Given the description of an element on the screen output the (x, y) to click on. 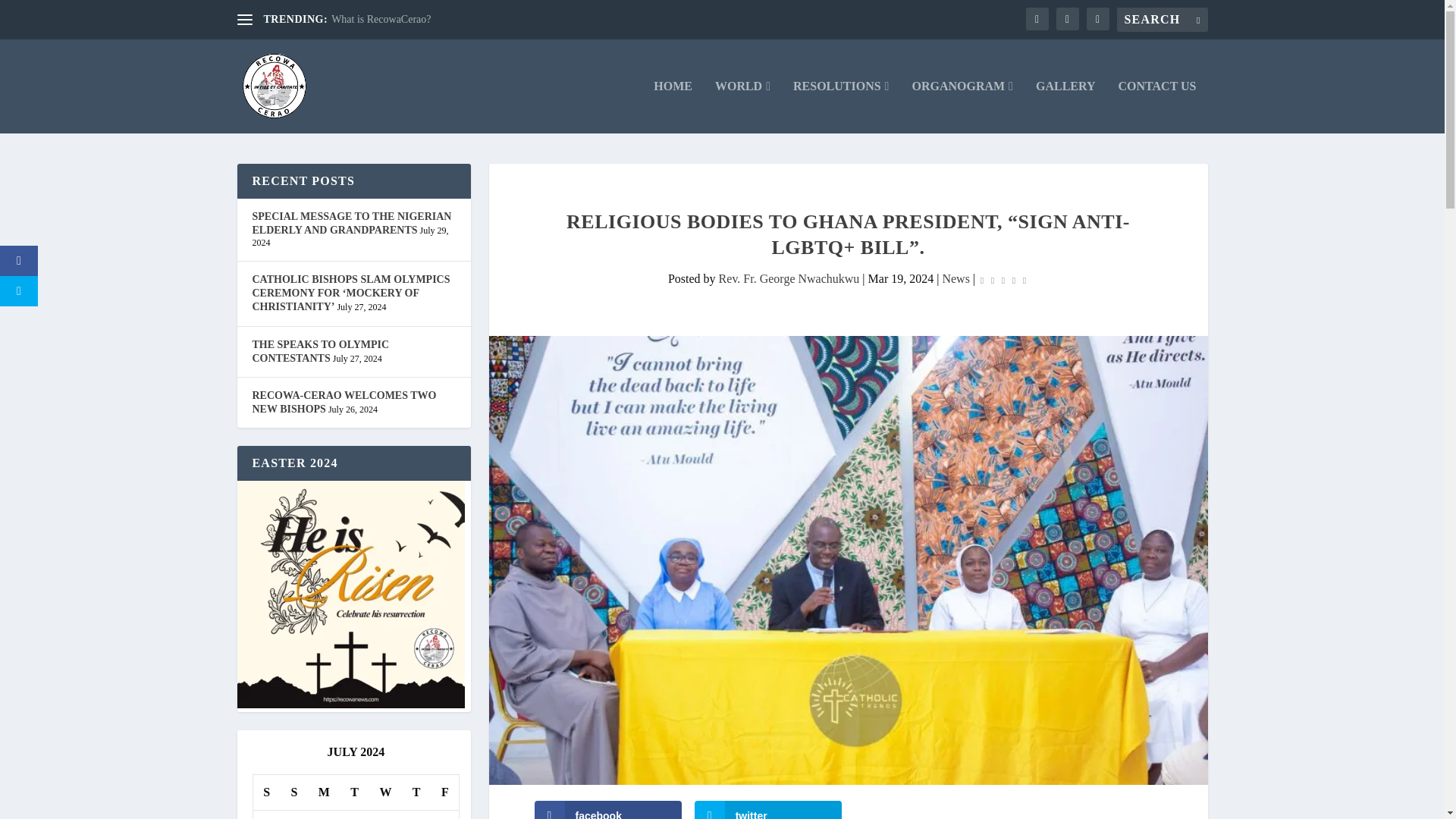
ORGANOGRAM (962, 106)
twitter (768, 809)
facebook (607, 809)
Rating: 0.00 (1002, 279)
CONTACT US (1157, 106)
Rev. Fr. George Nwachukwu (789, 278)
GALLERY (1065, 106)
WORLD (742, 106)
RESOLUTIONS (840, 106)
Search for: (1161, 19)
News (955, 278)
What is RecowaCerao? (380, 19)
Posts by Rev. Fr. George Nwachukwu (789, 278)
